Given the description of an element on the screen output the (x, y) to click on. 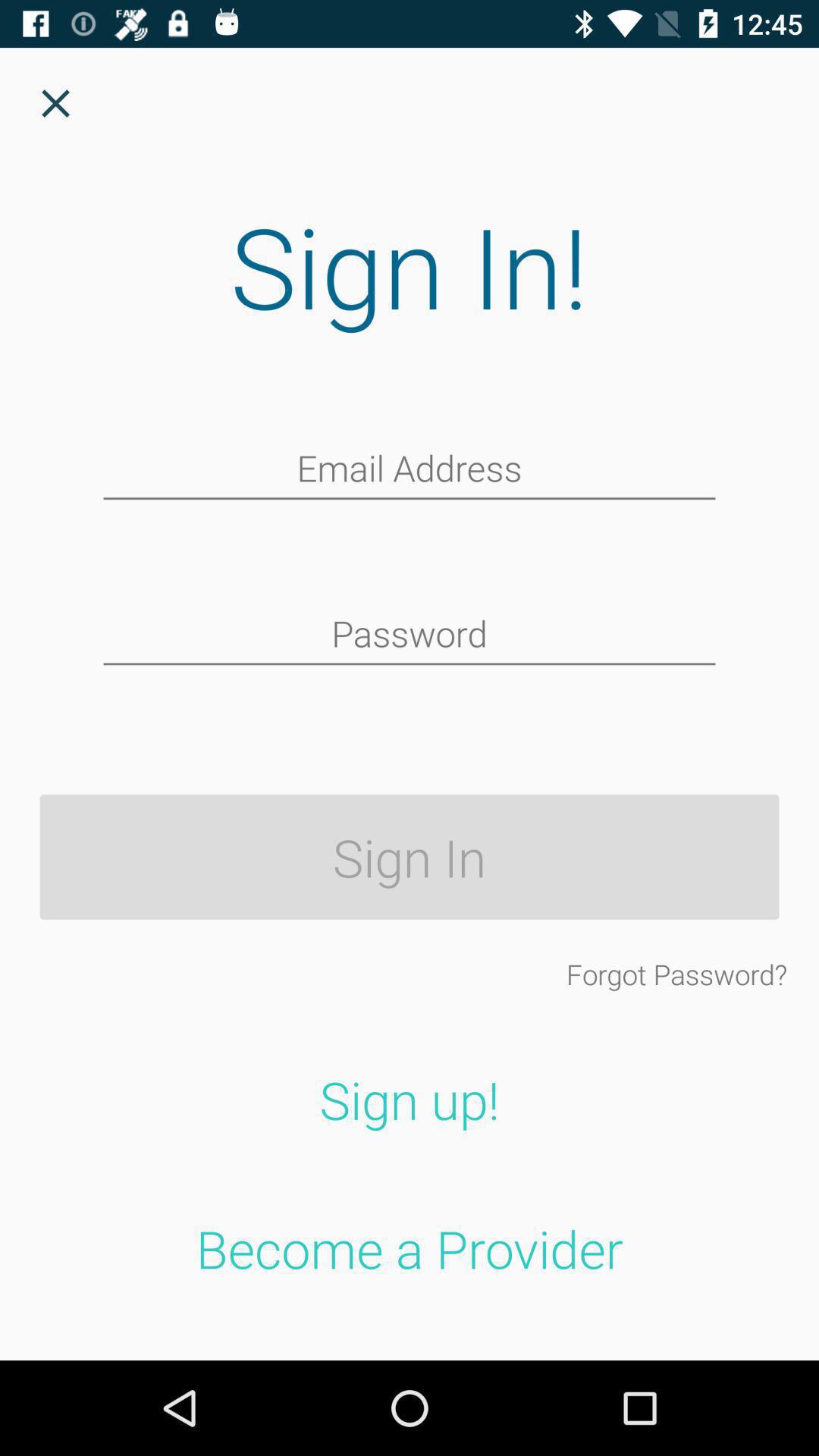
launch the item below sign in item (676, 974)
